Given the description of an element on the screen output the (x, y) to click on. 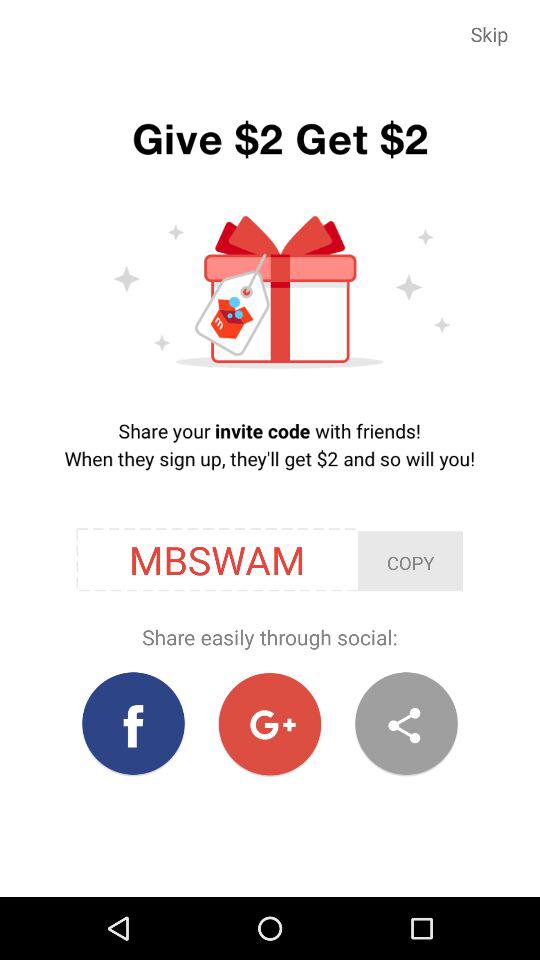
open icon below the share easily through item (406, 724)
